Given the description of an element on the screen output the (x, y) to click on. 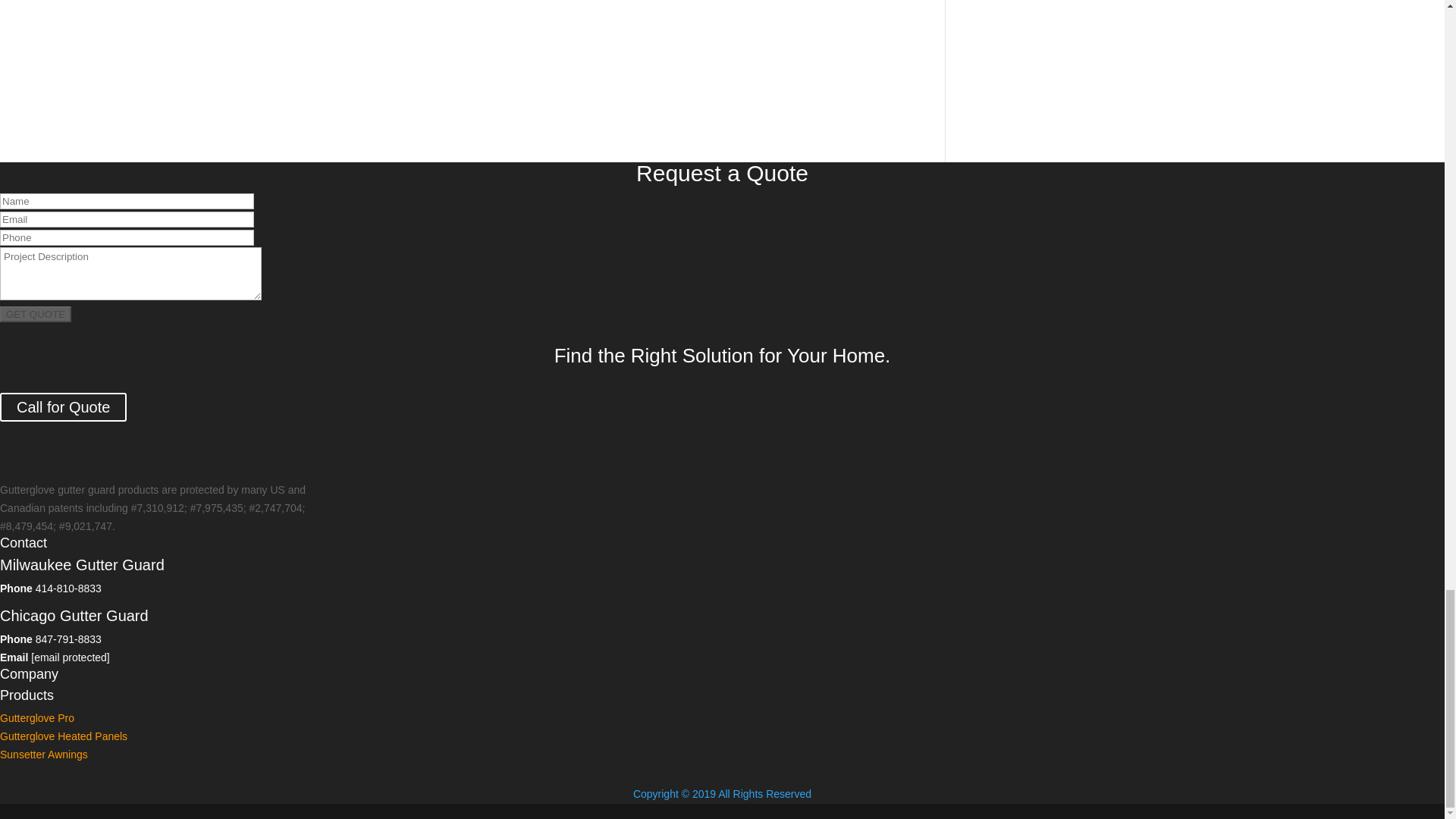
414-810-8833 (67, 588)
GET QUOTE (35, 314)
Call for Quote (63, 407)
Chicago Gutter Guard (74, 615)
Milwaukee Gutter Guard (82, 564)
GET QUOTE (35, 314)
847-791-8833 (67, 639)
Gutterglove Pro (37, 717)
Gutterglove Heated Panels (64, 736)
Sunsetter Awnings (43, 754)
